Given the description of an element on the screen output the (x, y) to click on. 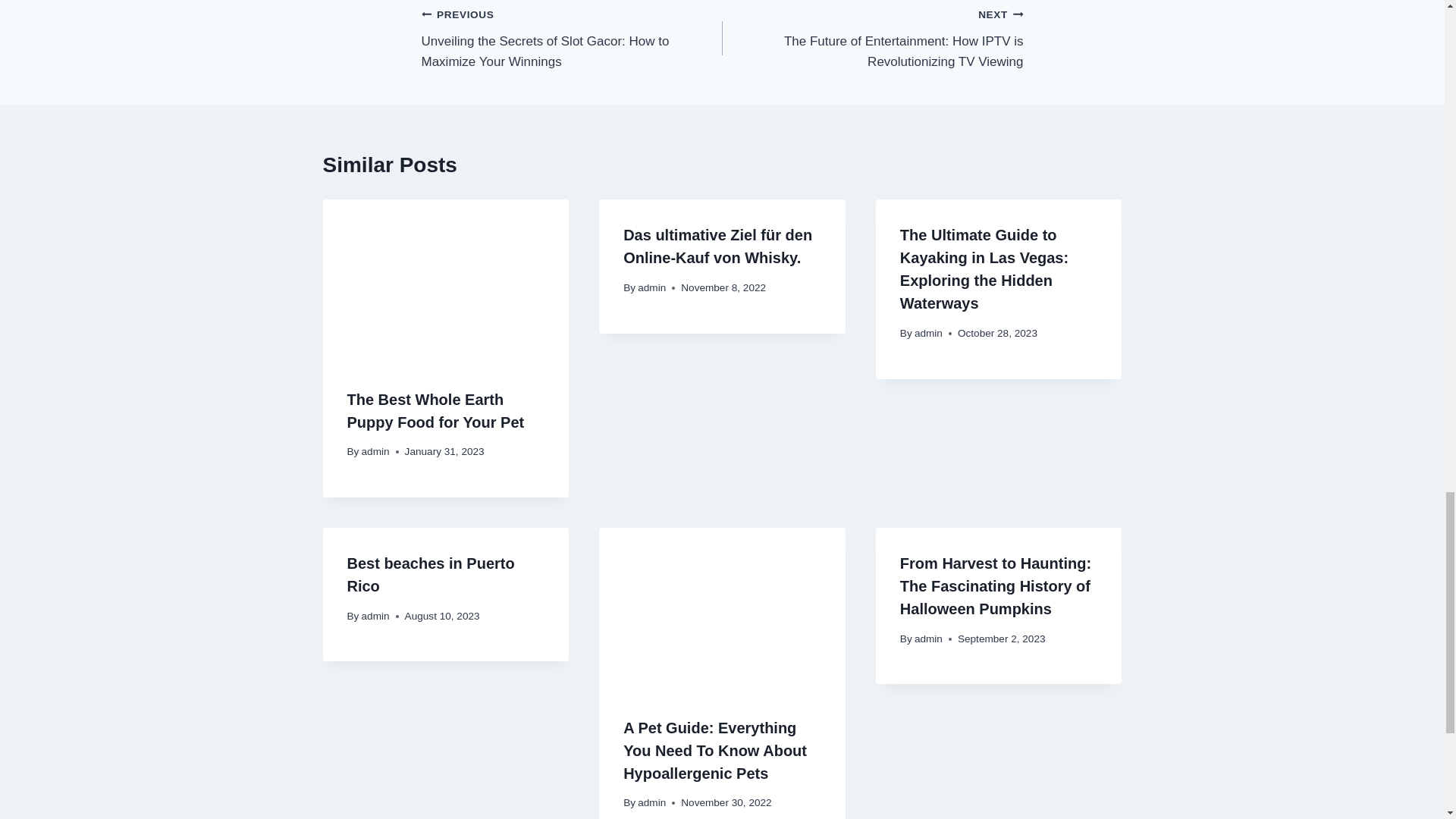
admin (375, 451)
Best beaches in Puerto Rico (431, 574)
admin (651, 802)
admin (375, 615)
The Best Whole Earth Puppy Food for Your Pet (435, 410)
admin (928, 638)
admin (651, 287)
